Given the description of an element on the screen output the (x, y) to click on. 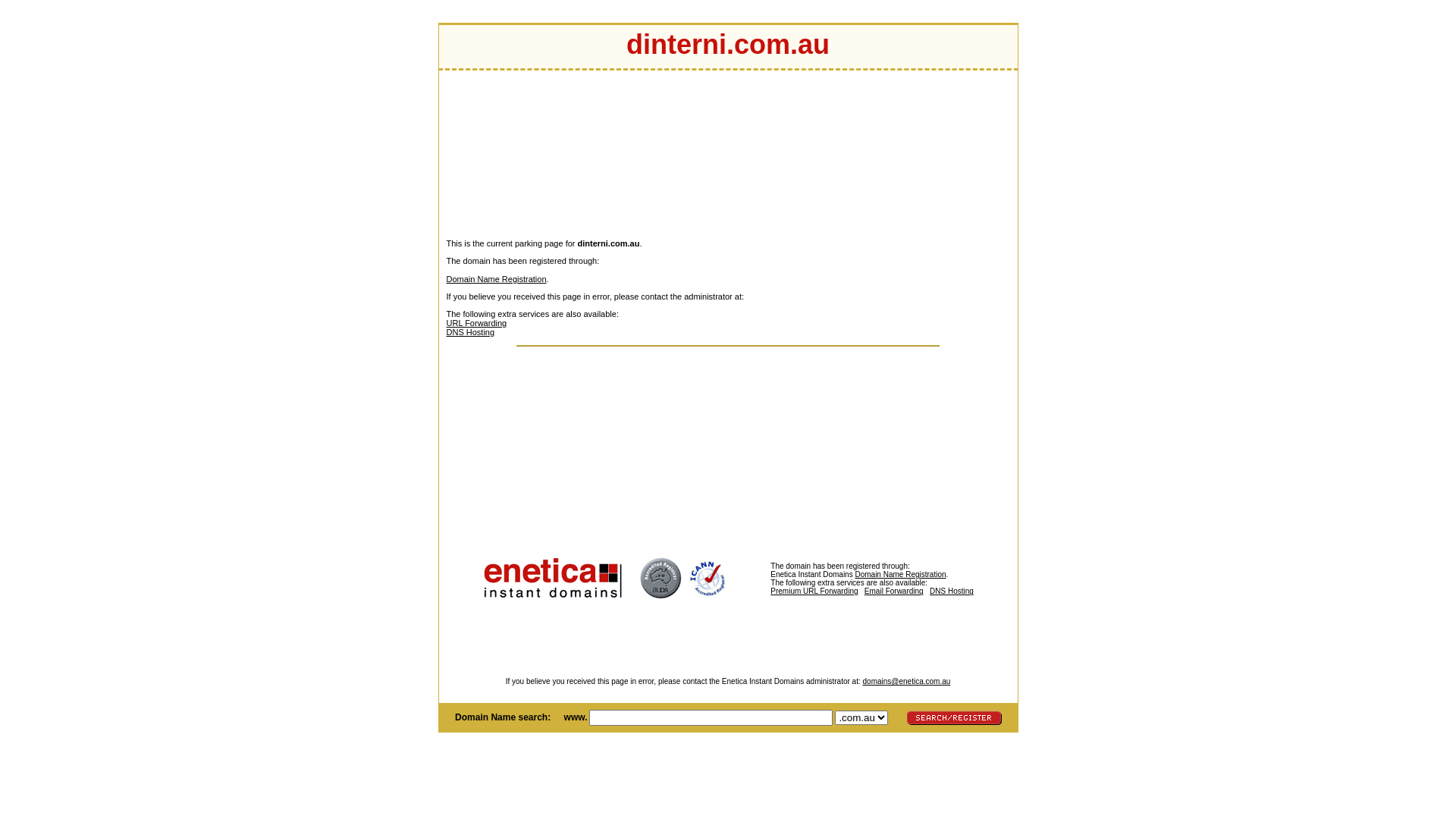
Domain Name Registration Element type: text (495, 278)
Domain Name Registration Element type: text (899, 574)
Email Forwarding Element type: text (893, 590)
domains@enetica.com.au Element type: text (906, 681)
Premium URL Forwarding Element type: text (850, 594)
DNS Hosting Element type: text (951, 590)
URL Forwarding Element type: text (475, 322)
DNS Hosting Element type: text (469, 331)
